Given the description of an element on the screen output the (x, y) to click on. 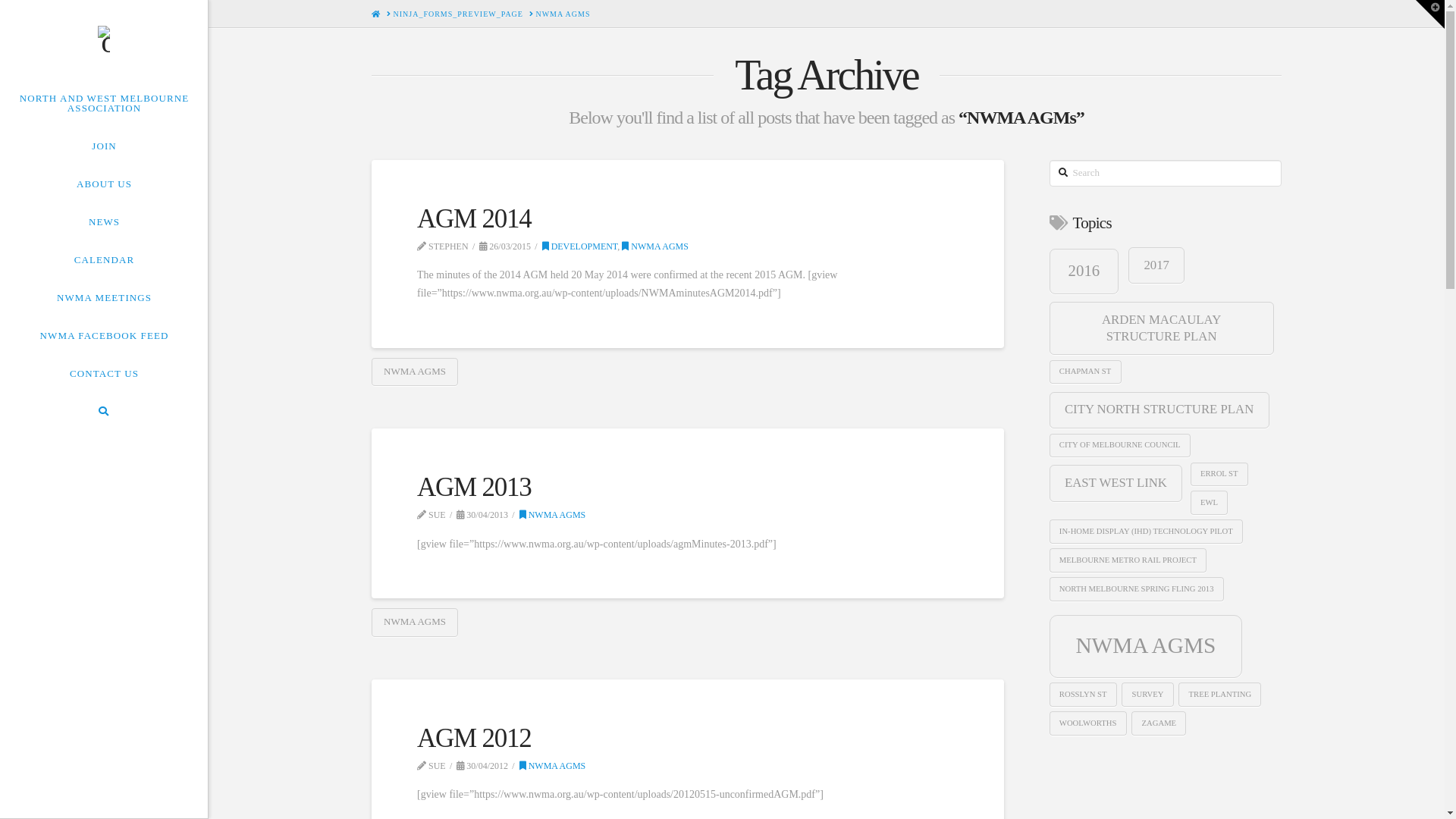
CITY NORTH STRUCTURE PLAN Element type: text (1159, 410)
NWMA FACEBOOK FEED Element type: text (103, 335)
ZAGAME Element type: text (1158, 722)
NWMA AGMS Element type: text (1145, 646)
EWL Element type: text (1209, 502)
NWMA AGMS Element type: text (654, 246)
NORTH AND WEST MELBOURNE ASSOCIATION Element type: text (103, 102)
MELBOURNE METRO RAIL PROJECT Element type: text (1128, 559)
NINJA_FORMS_PREVIEW_PAGE Element type: text (457, 14)
NWMA AGMS Element type: text (414, 622)
WOOLWORTHS Element type: text (1087, 722)
2017 Element type: text (1156, 265)
NORTH MELBOURNE SPRING FLING 2013 Element type: text (1136, 588)
JOIN Element type: text (103, 145)
NWMA MEETINGS Element type: text (103, 297)
ROSSLYN ST Element type: text (1083, 694)
CALENDAR Element type: text (103, 259)
AGM 2014 Element type: text (474, 218)
NWMA AGMS Element type: text (552, 514)
HOME Element type: text (375, 12)
NEWS Element type: text (103, 221)
SURVEY Element type: text (1147, 694)
ERROL ST Element type: text (1219, 474)
TREE PLANTING Element type: text (1219, 694)
ABOUT US Element type: text (103, 183)
ARDEN MACAULAY STRUCTURE PLAN Element type: text (1161, 327)
Toggle the Widgetbar Element type: text (1429, 14)
NWMA AGMS Element type: text (414, 371)
EAST WEST LINK Element type: text (1116, 482)
DEVELOPMENT Element type: text (580, 246)
NWMA AGMS Element type: text (552, 765)
CHAPMAN ST Element type: text (1085, 371)
IN-HOME DISPLAY (IHD) TECHNOLOGY PILOT Element type: text (1146, 530)
NWMA AGMS Element type: text (562, 14)
AGM 2013 Element type: text (474, 487)
AGM 2012 Element type: text (474, 738)
CITY OF MELBOURNE COUNCIL Element type: text (1119, 445)
2016 Element type: text (1084, 271)
CONTACT US Element type: text (103, 373)
